Given the description of an element on the screen output the (x, y) to click on. 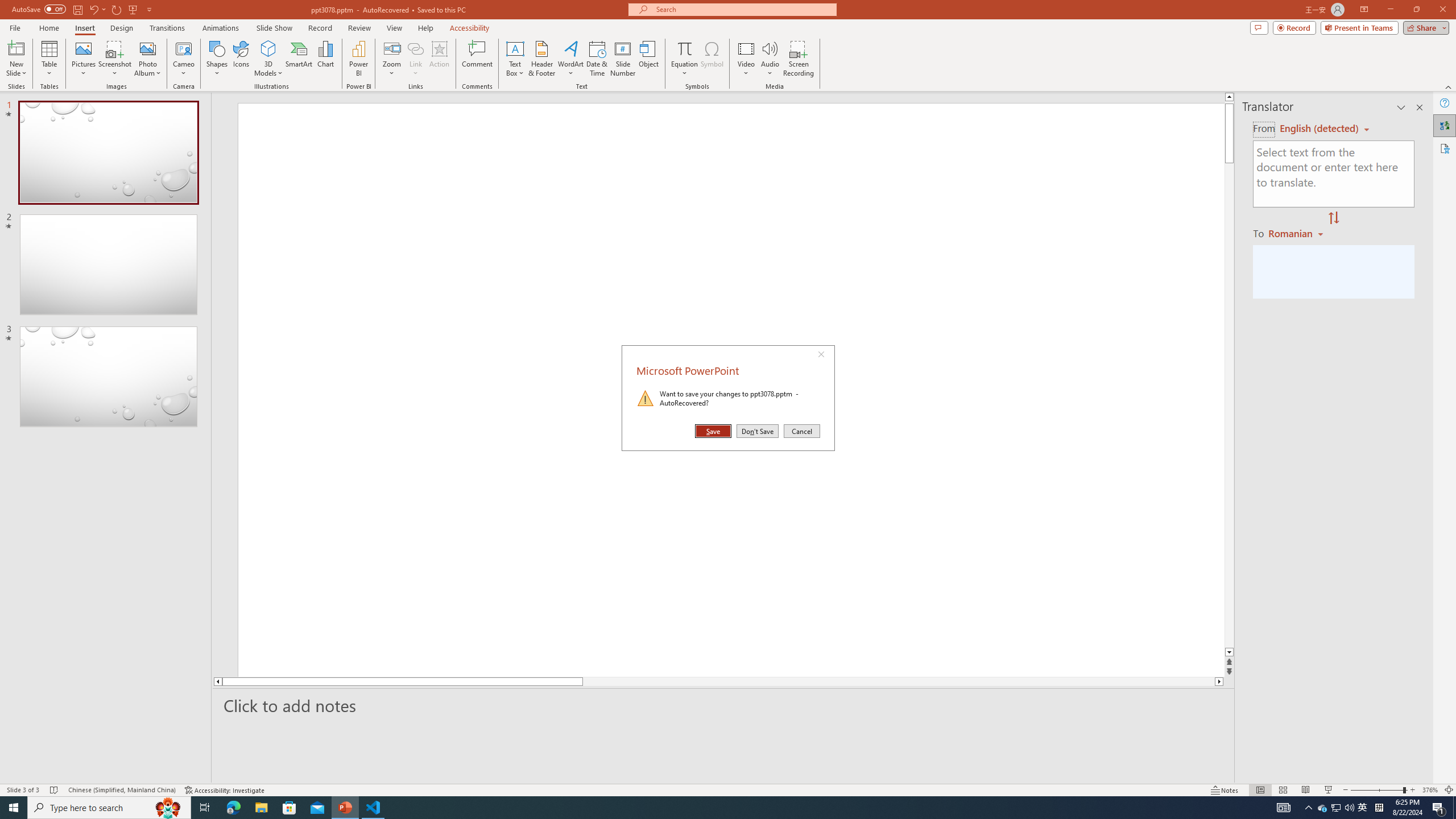
Photo Album... (147, 58)
Table (49, 58)
